Given the description of an element on the screen output the (x, y) to click on. 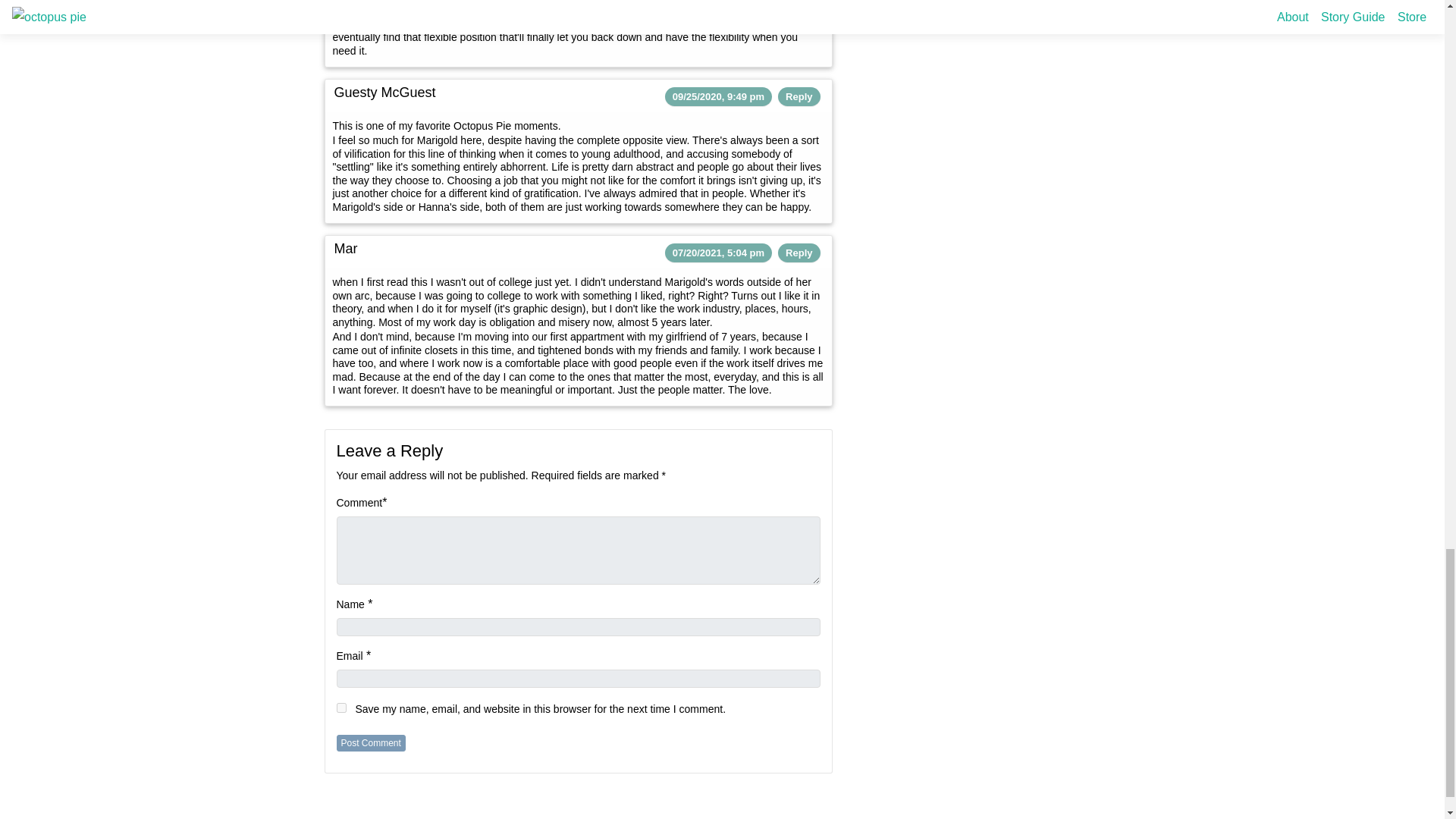
Post Comment (371, 742)
Reply (799, 96)
Post Comment (371, 742)
Reply (799, 252)
yes (341, 707)
